Given the description of an element on the screen output the (x, y) to click on. 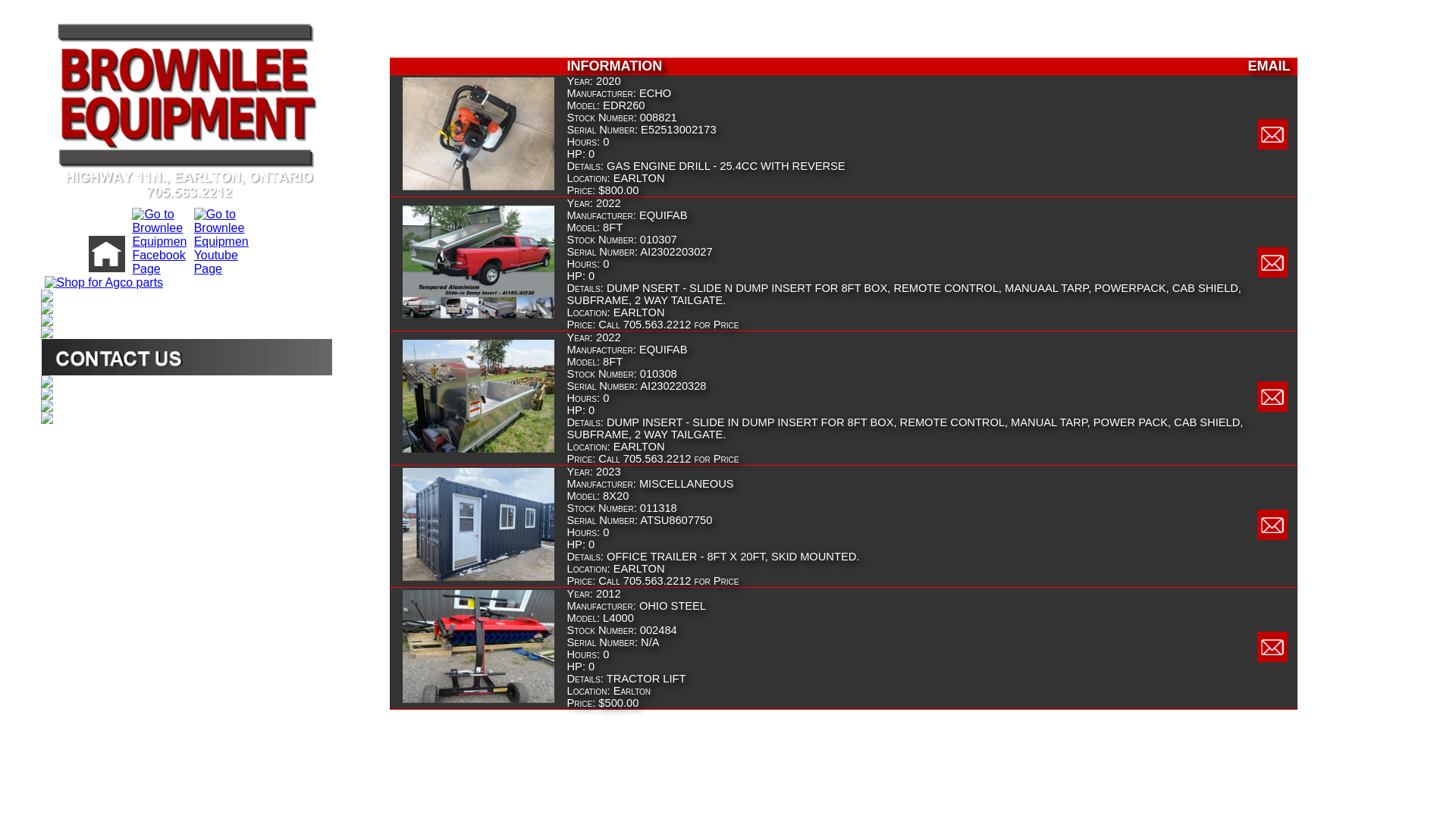
More pictures and info on this stock Element type: hover (478, 577)
More pictures and info on this stock Element type: hover (478, 449)
Brownlee Equipment Facebook Page Element type: hover (157, 268)
Email Brownlee Equipment Element type: hover (1272, 146)
Email Brownlee Equipment Element type: hover (1272, 274)
Email Brownlee Equipment Element type: hover (1272, 536)
About Brownlee Equipment Element type: hover (186, 417)
More pictures and info on this stock Element type: hover (478, 187)
More pictures and info on this stock Element type: hover (478, 315)
Contact Brownlee Equipment Element type: hover (186, 356)
Email Brownlee Equipment Element type: hover (1272, 408)
Brownlee Equipment Home Page Element type: hover (104, 268)
More pictures and info on this stock Element type: hover (478, 699)
Brownlee Equipment Rental Catalogue Element type: hover (186, 381)
Email Brownlee Equipment Element type: hover (1272, 658)
Shop for Agco parts Element type: hover (101, 282)
Parts Request Element type: hover (186, 332)
Get Financed Element type: hover (186, 405)
Brownlee Equipment YouTube Page Element type: hover (219, 268)
